Given the description of an element on the screen output the (x, y) to click on. 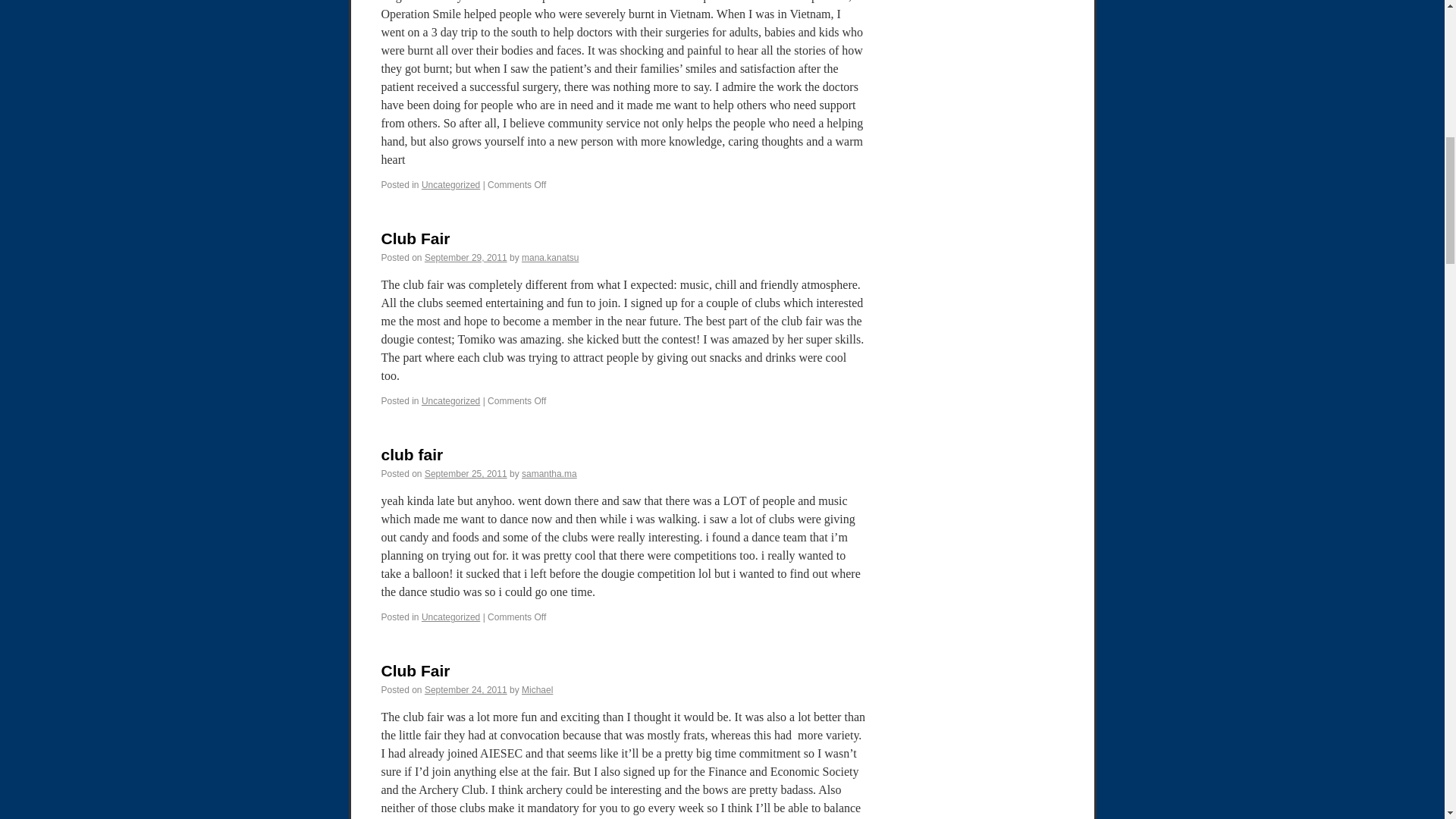
samantha.ma (548, 473)
Michael (537, 689)
Uncategorized (451, 400)
September 25, 2011 (465, 473)
club fair (411, 454)
Uncategorized (451, 616)
mana.kanatsu (549, 257)
Uncategorized (451, 184)
Club Fair (414, 670)
September 24, 2011 (465, 689)
September 29, 2011 (465, 257)
Club Fair (414, 238)
